Given the description of an element on the screen output the (x, y) to click on. 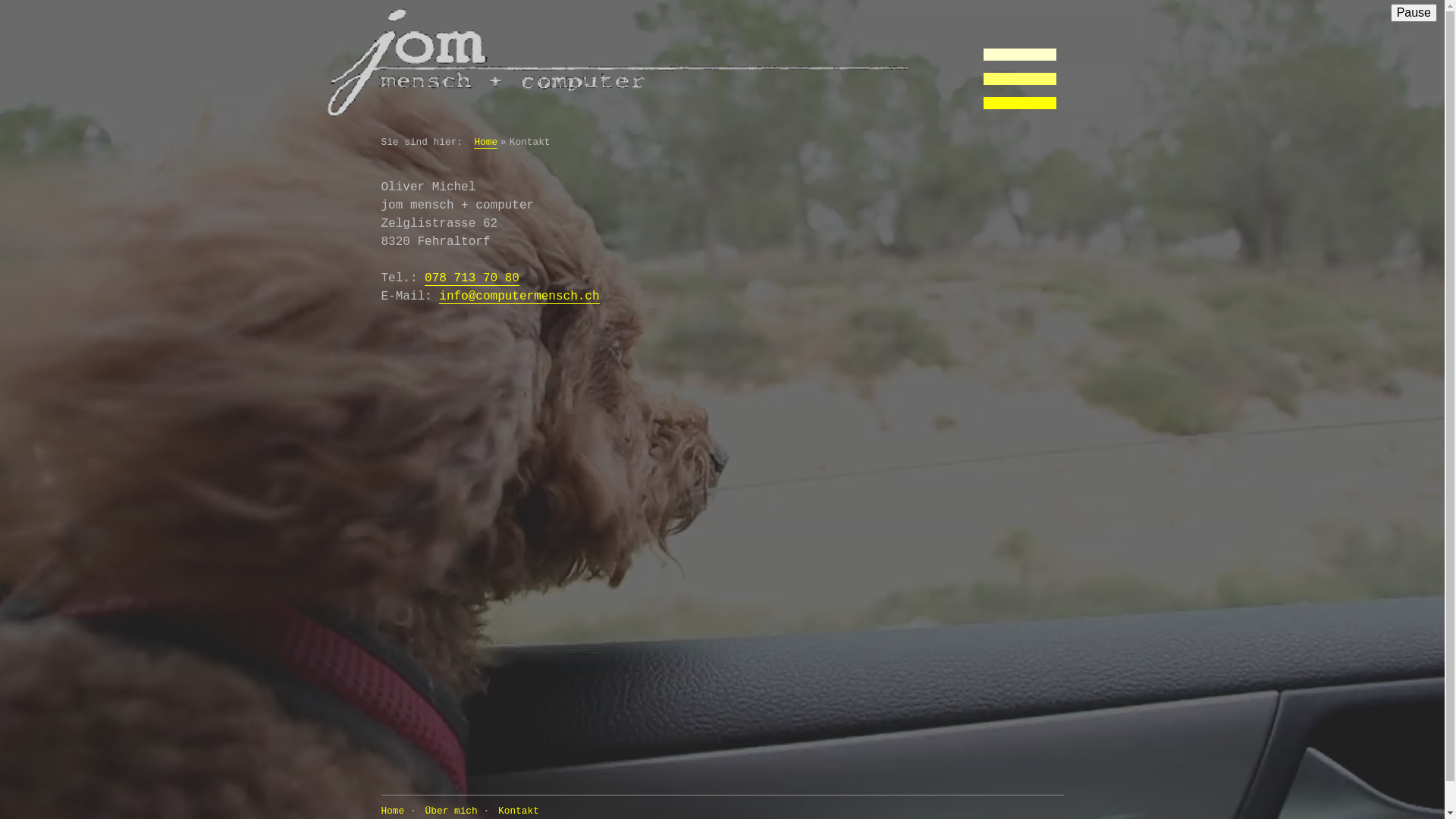
078 713 70 80 Element type: text (471, 278)
Home Element type: text (392, 810)
Home Element type: text (613, 60)
info@computermensch.ch Element type: text (519, 296)
Home Element type: text (485, 142)
Kontakt Element type: text (518, 810)
Pause Element type: text (1413, 12)
